Given the description of an element on the screen output the (x, y) to click on. 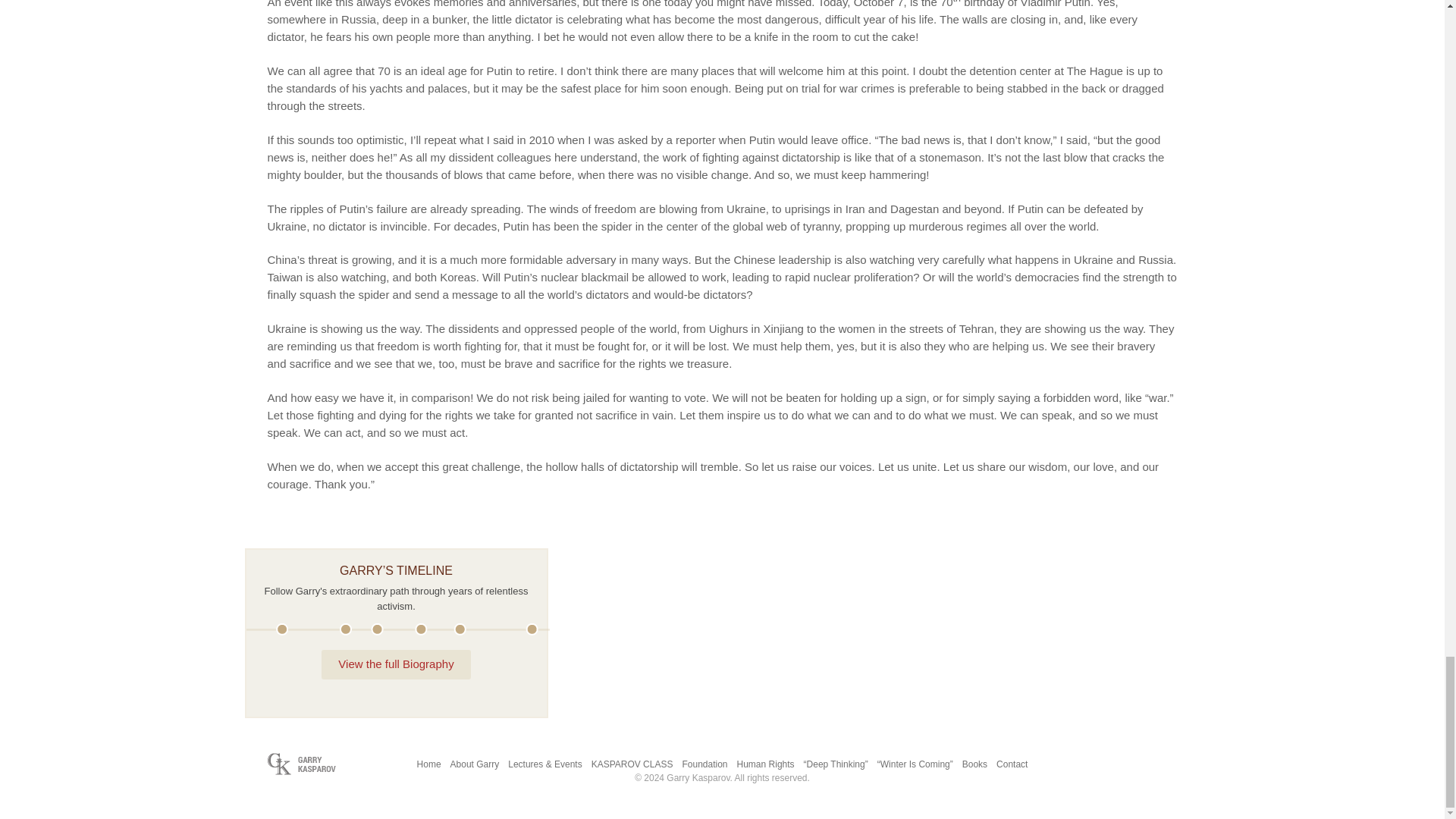
Books (974, 764)
Foundation (703, 764)
KASPAROV CLASS (631, 764)
View the full Biography (395, 664)
Human Rights (765, 764)
Contact (1011, 764)
Home (428, 764)
About Garry (474, 764)
